Given the description of an element on the screen output the (x, y) to click on. 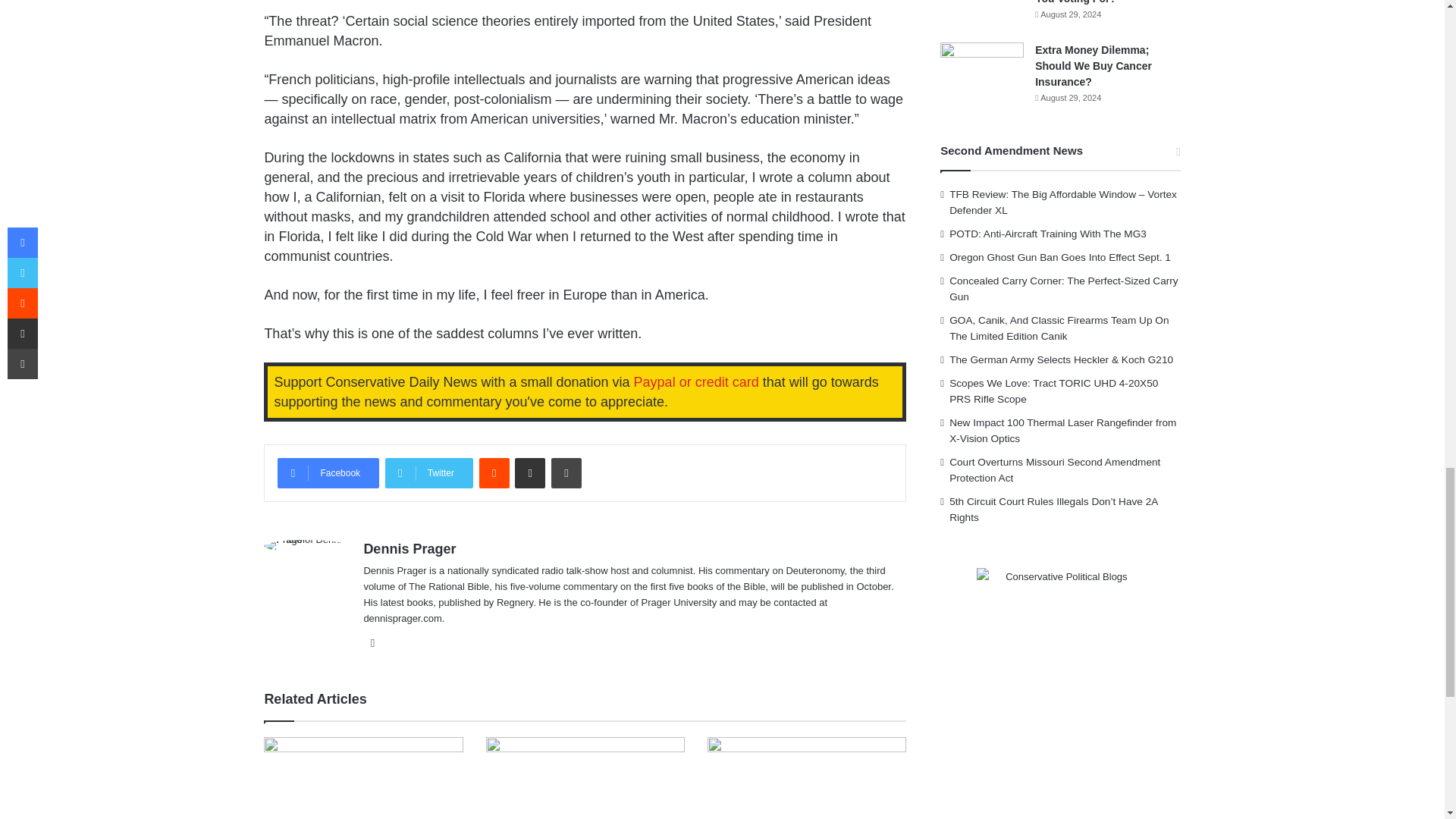
Facebook (328, 472)
Twitter (429, 472)
Reddit (494, 472)
Share via Email (529, 472)
